Given the description of an element on the screen output the (x, y) to click on. 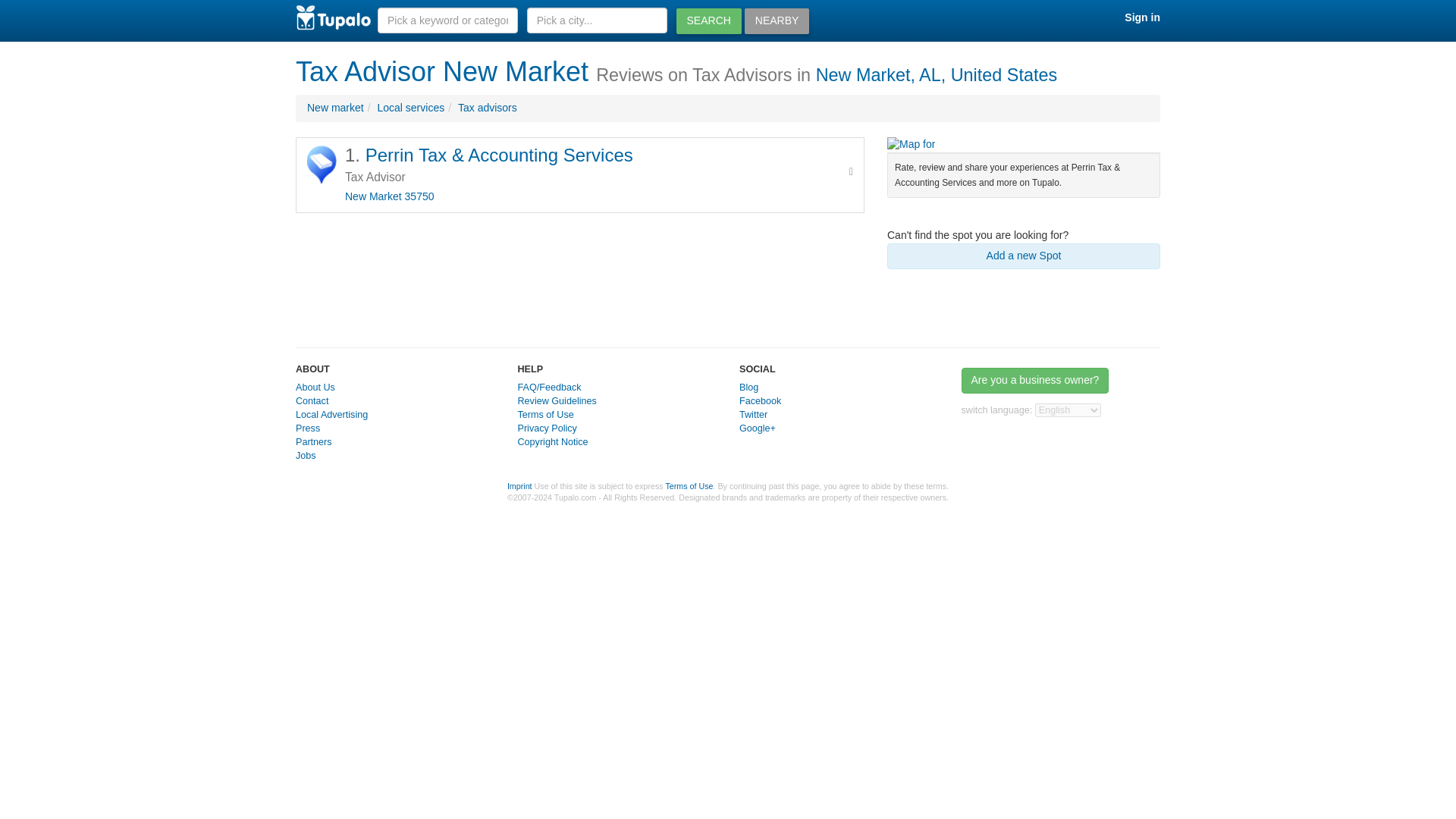
New market (335, 107)
Terms of Use (544, 414)
About Us (314, 387)
Privacy Policy (546, 428)
Partners (313, 441)
Tax Advisor New Market (441, 71)
Sign in (1142, 17)
Jobs (305, 455)
Twitter (753, 414)
SEARCH (709, 21)
Imprint (519, 485)
Local services (410, 107)
Are you a business owner? (1034, 380)
Show on interactive map (910, 144)
Terms of Use (689, 485)
